Given the description of an element on the screen output the (x, y) to click on. 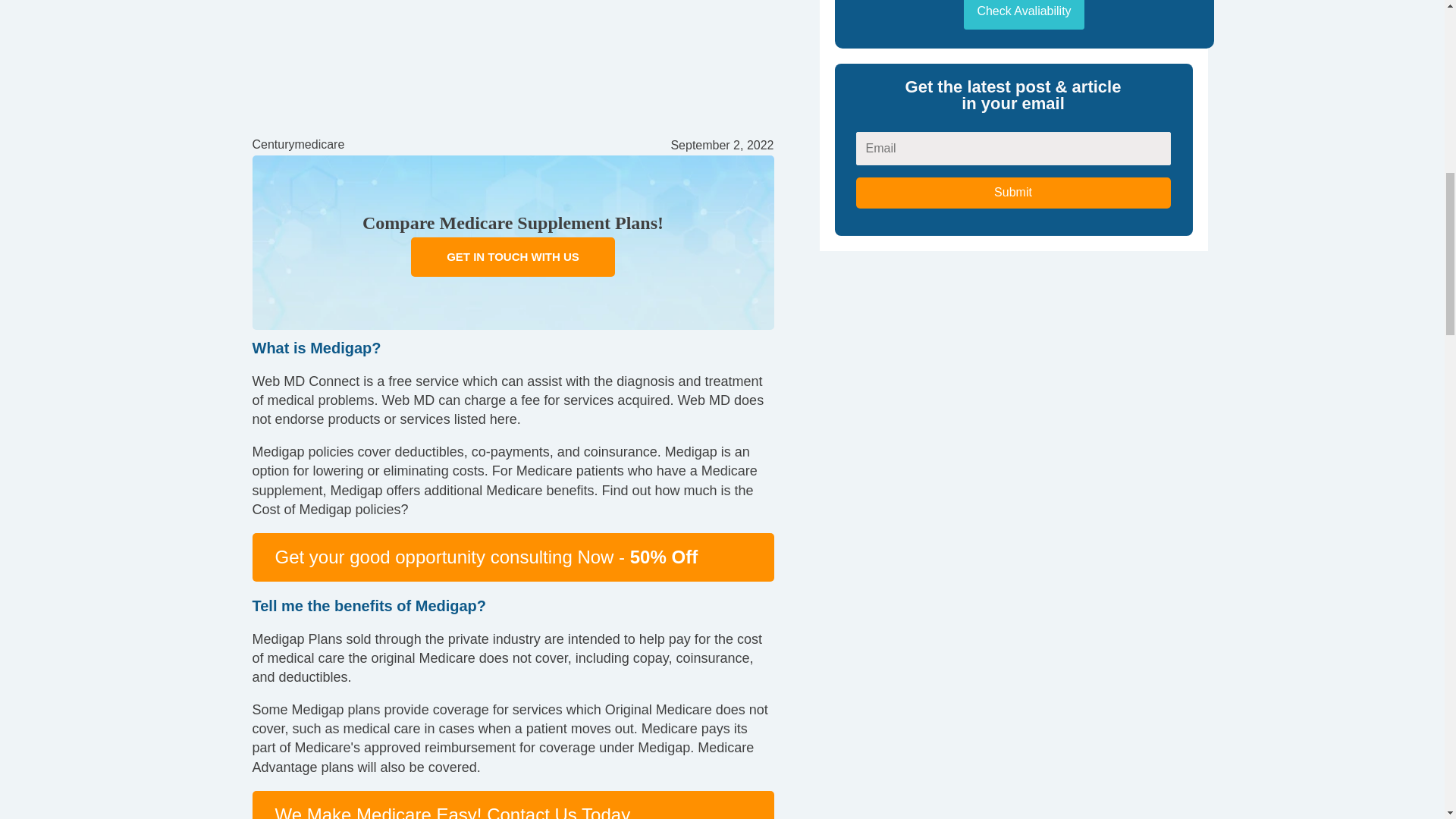
Check Avaliability (1023, 14)
GET IN TOUCH WITH US (512, 256)
Submit (1013, 192)
We Make Medicare Easy! Contact Us Today (452, 811)
GET IN TOUCH WITH US (512, 256)
Submit (1013, 192)
